Given the description of an element on the screen output the (x, y) to click on. 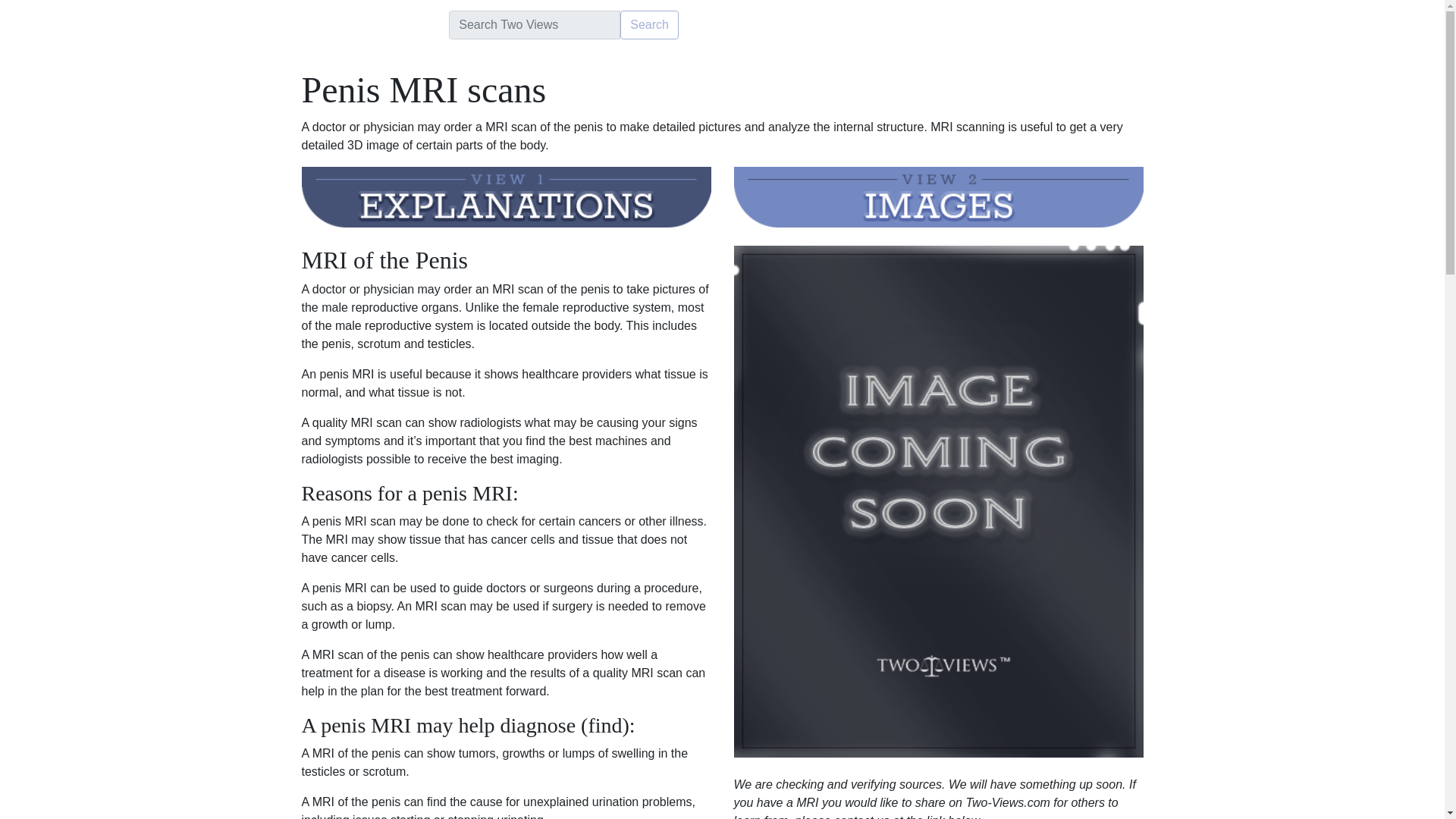
Health (251, 24)
Wisdom (307, 24)
Medical Imaging (392, 24)
Search (649, 24)
Home (198, 24)
